Given the description of an element on the screen output the (x, y) to click on. 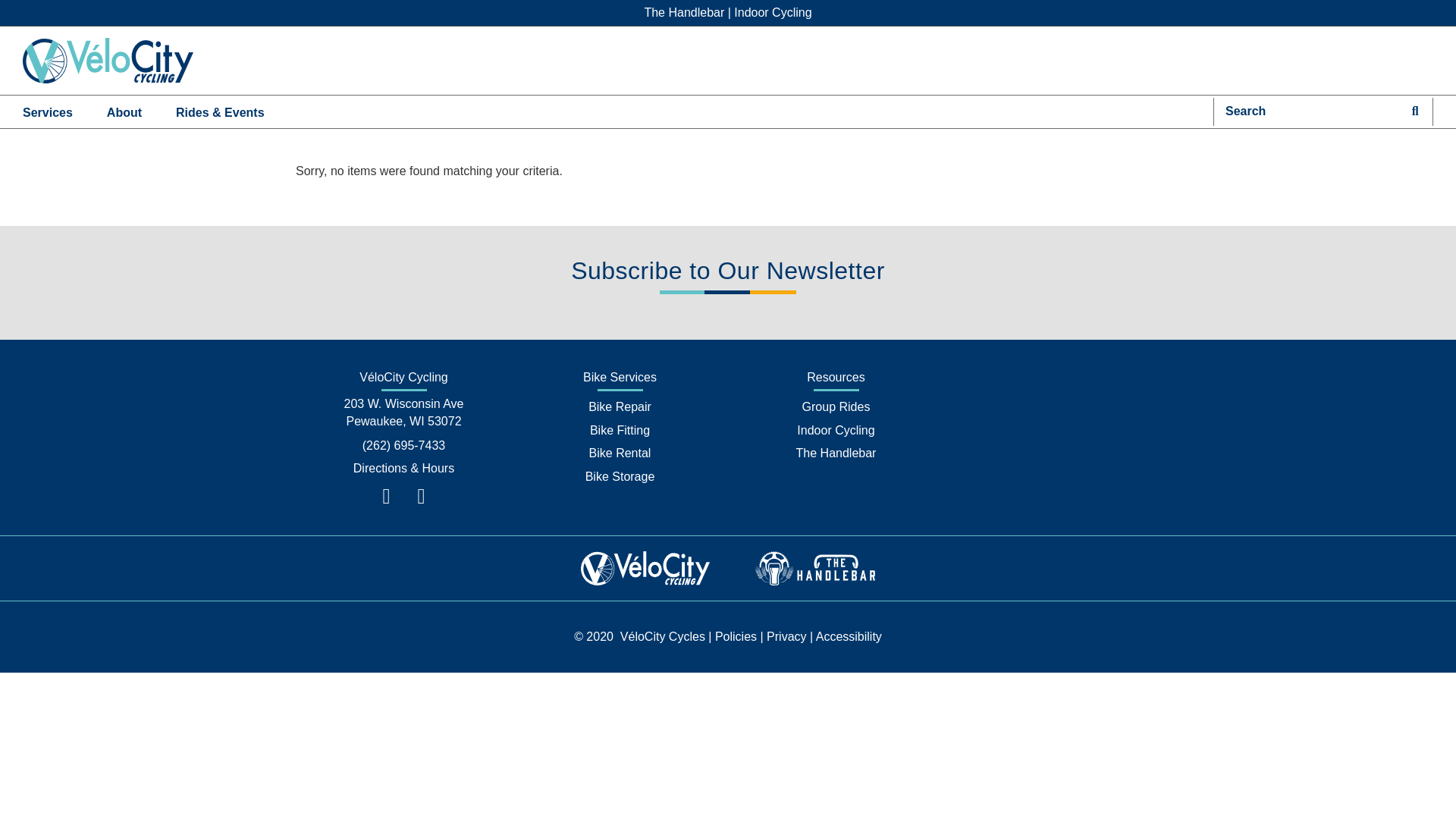
Search (1305, 111)
Bike Repair (619, 406)
VeloCity Cycling Home Page (108, 60)
Accessibility (848, 635)
Bike Storage (620, 476)
Facebook (386, 496)
Group Rides (836, 406)
Policies (735, 635)
Search (1414, 111)
About (124, 111)
